Given the description of an element on the screen output the (x, y) to click on. 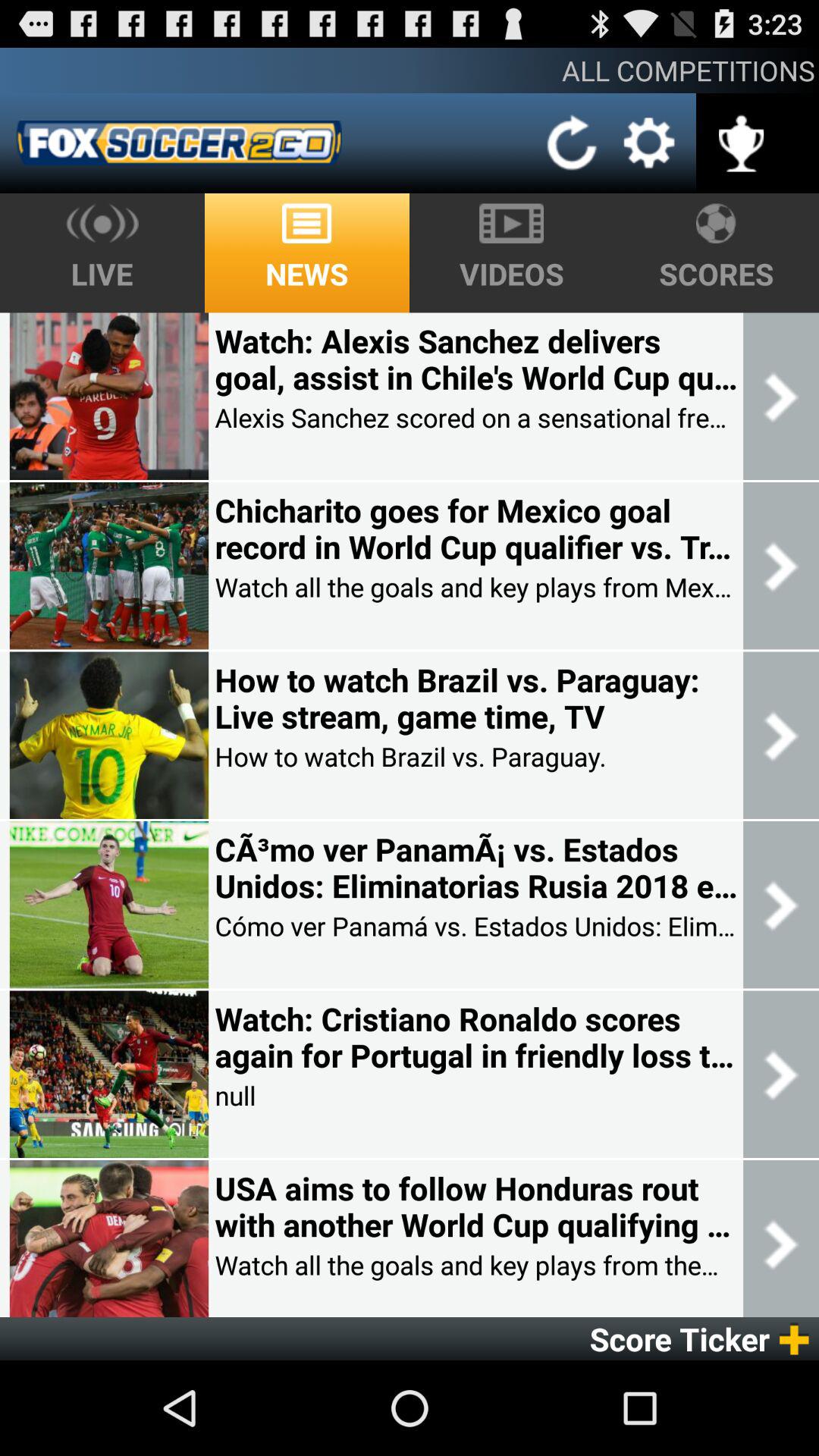
turn on the app above the watch all the (475, 528)
